Given the description of an element on the screen output the (x, y) to click on. 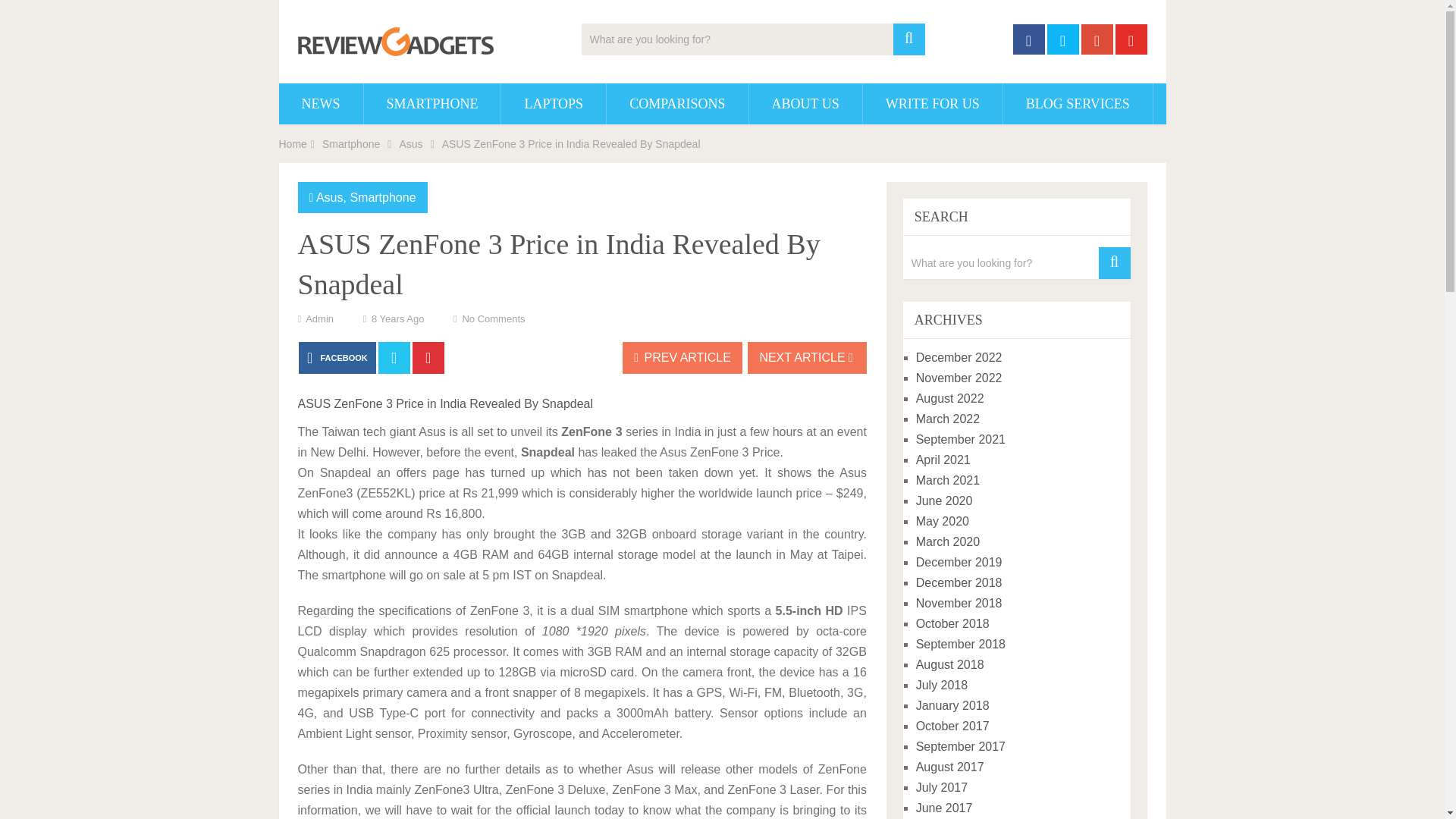
LAPTOPS (552, 103)
Smartphone (381, 196)
PREV ARTICLE (682, 357)
Admin (319, 318)
SMARTPHONE (432, 103)
NEXT ARTICLE (807, 357)
ABOUT US (805, 103)
FACEBOOK (336, 357)
NEWS (320, 103)
Smartphone (350, 143)
